Given the description of an element on the screen output the (x, y) to click on. 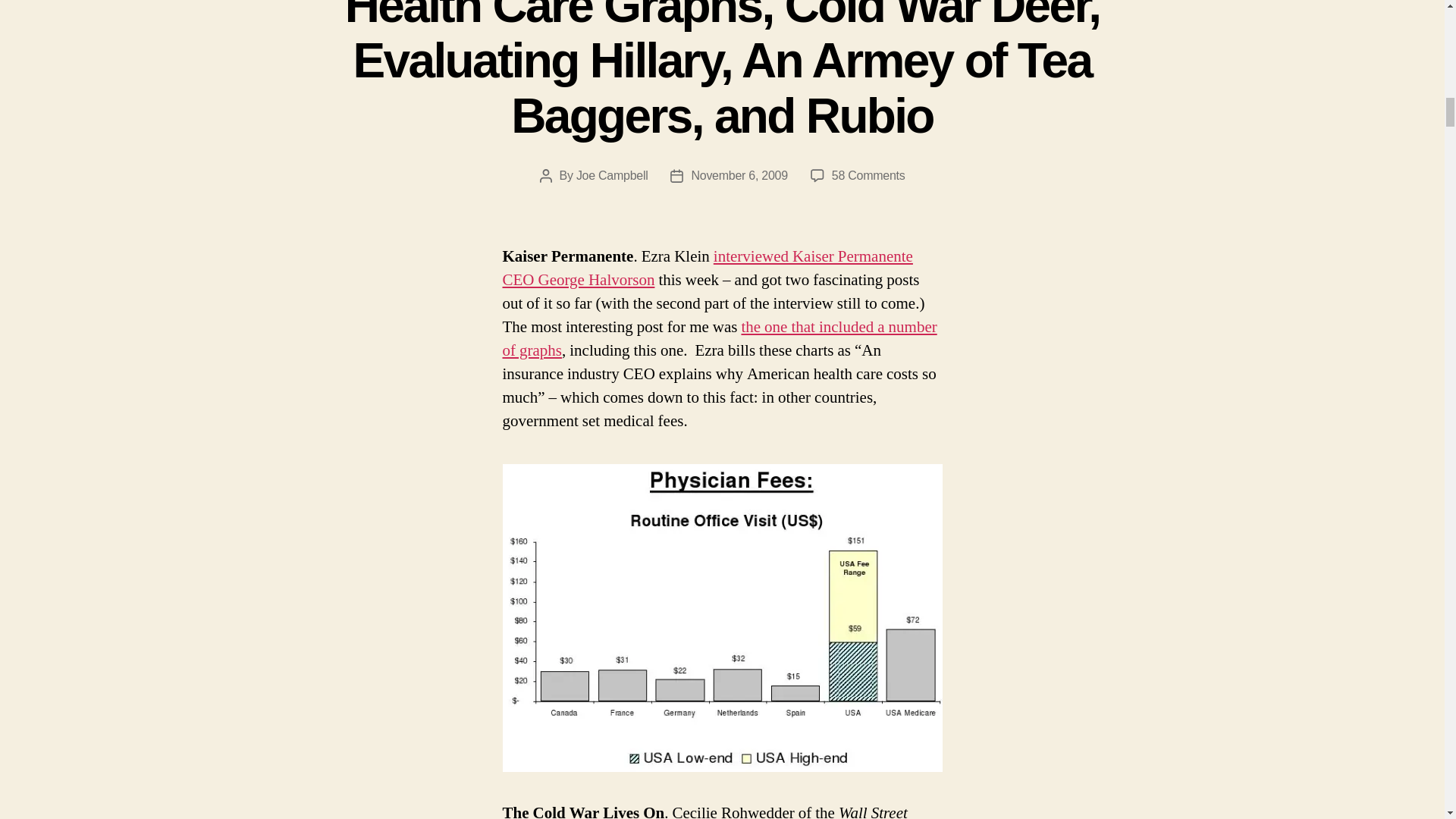
Joe Campbell (611, 174)
November 6, 2009 (738, 174)
